Given the description of an element on the screen output the (x, y) to click on. 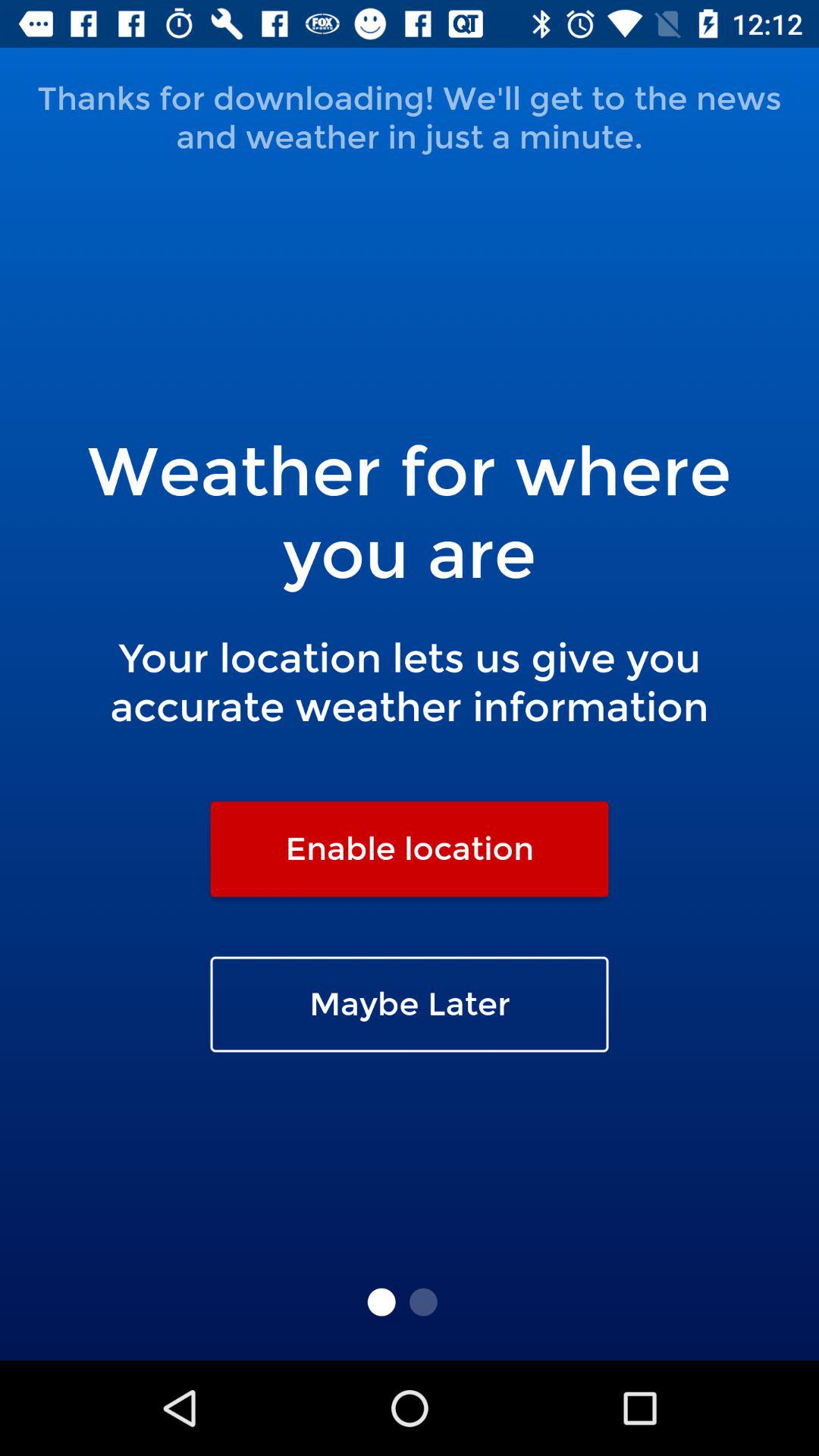
open icon above the maybe later icon (409, 848)
